Given the description of an element on the screen output the (x, y) to click on. 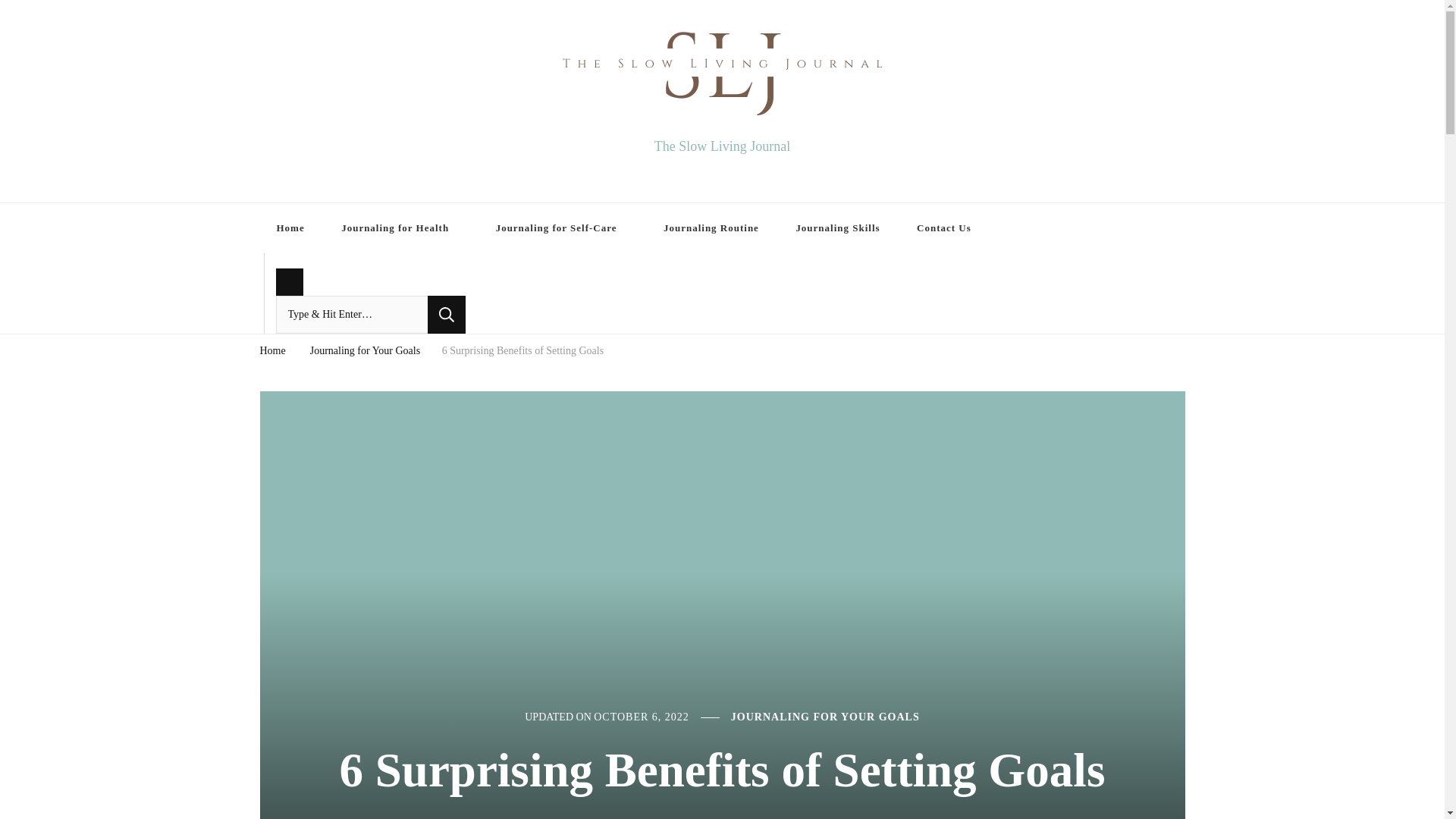
Journaling for Health (400, 228)
Home (272, 351)
Contact Us (948, 228)
Search (446, 314)
Home (289, 228)
JOURNALING FOR YOUR GOALS (825, 717)
Search (446, 314)
6 Surprising Benefits of Setting Goals (523, 351)
Search (446, 314)
Journaling for Your Goals (365, 351)
Journaling Skills (837, 228)
Journaling Routine (711, 228)
Journaling for Self-Care (561, 228)
OCTOBER 6, 2022 (641, 717)
The Slow Living Journal (721, 145)
